Given the description of an element on the screen output the (x, y) to click on. 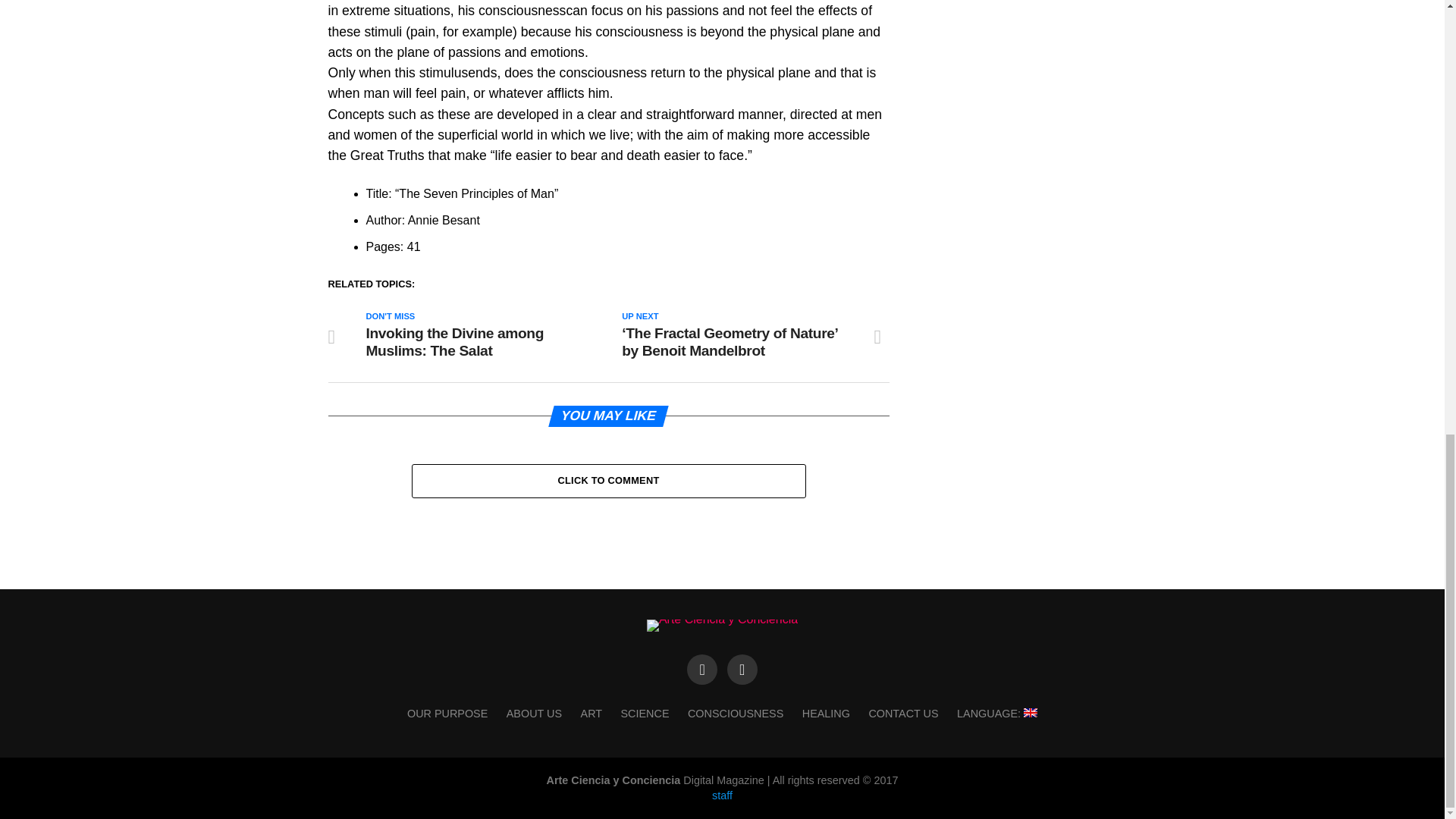
English (996, 713)
